Given the description of an element on the screen output the (x, y) to click on. 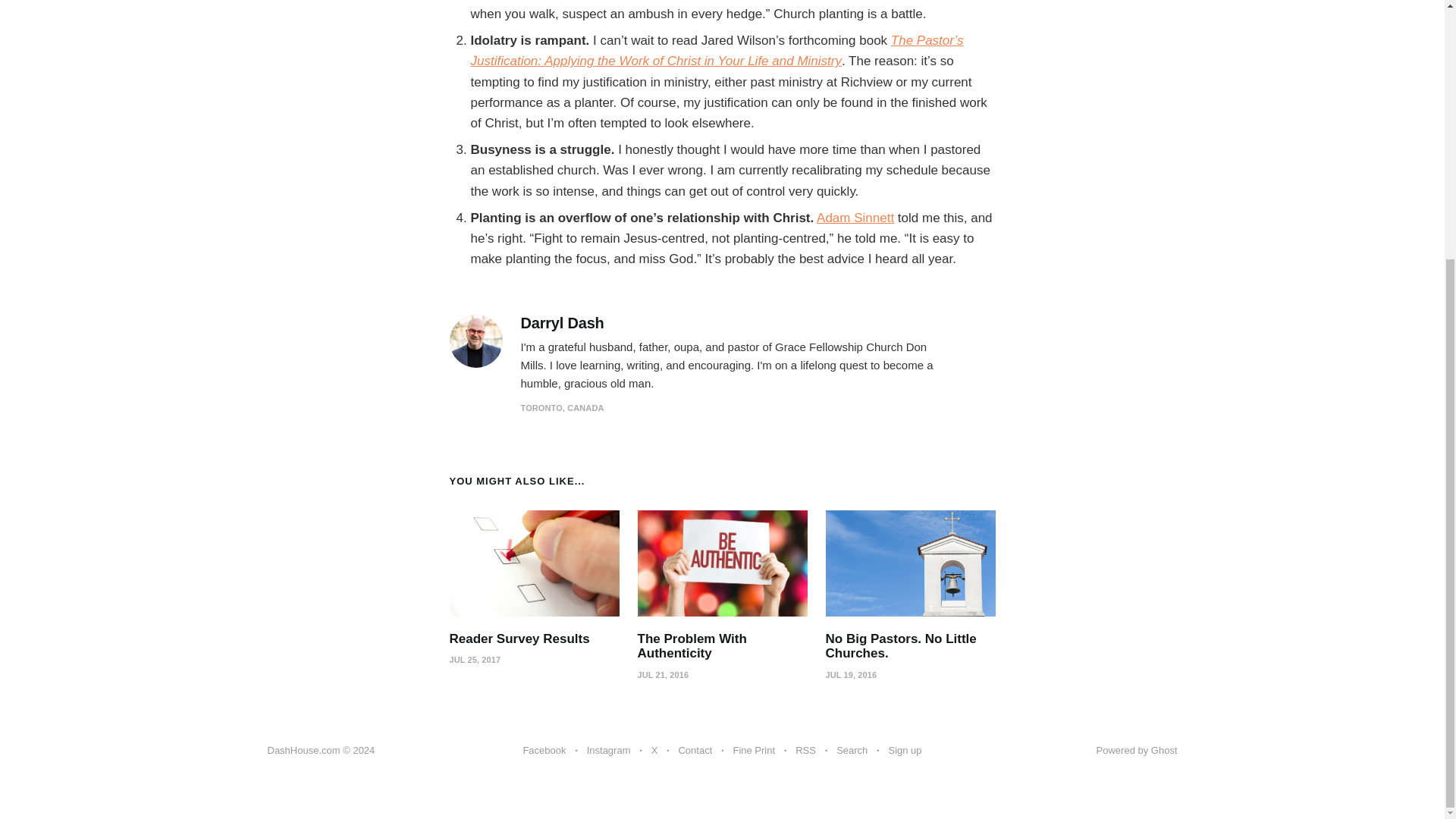
RSS (804, 750)
Facebook (544, 750)
Darryl Dash (561, 323)
No Big Pastors. No Little Churches. (900, 645)
Adam Sinnett (854, 217)
Instagram (608, 750)
Reader Survey Results (518, 638)
Fine Print (753, 750)
Powered by Ghost (1136, 749)
Search (851, 750)
Contact (694, 750)
The Problem With Authenticity (691, 645)
Sign up (904, 750)
